Given the description of an element on the screen output the (x, y) to click on. 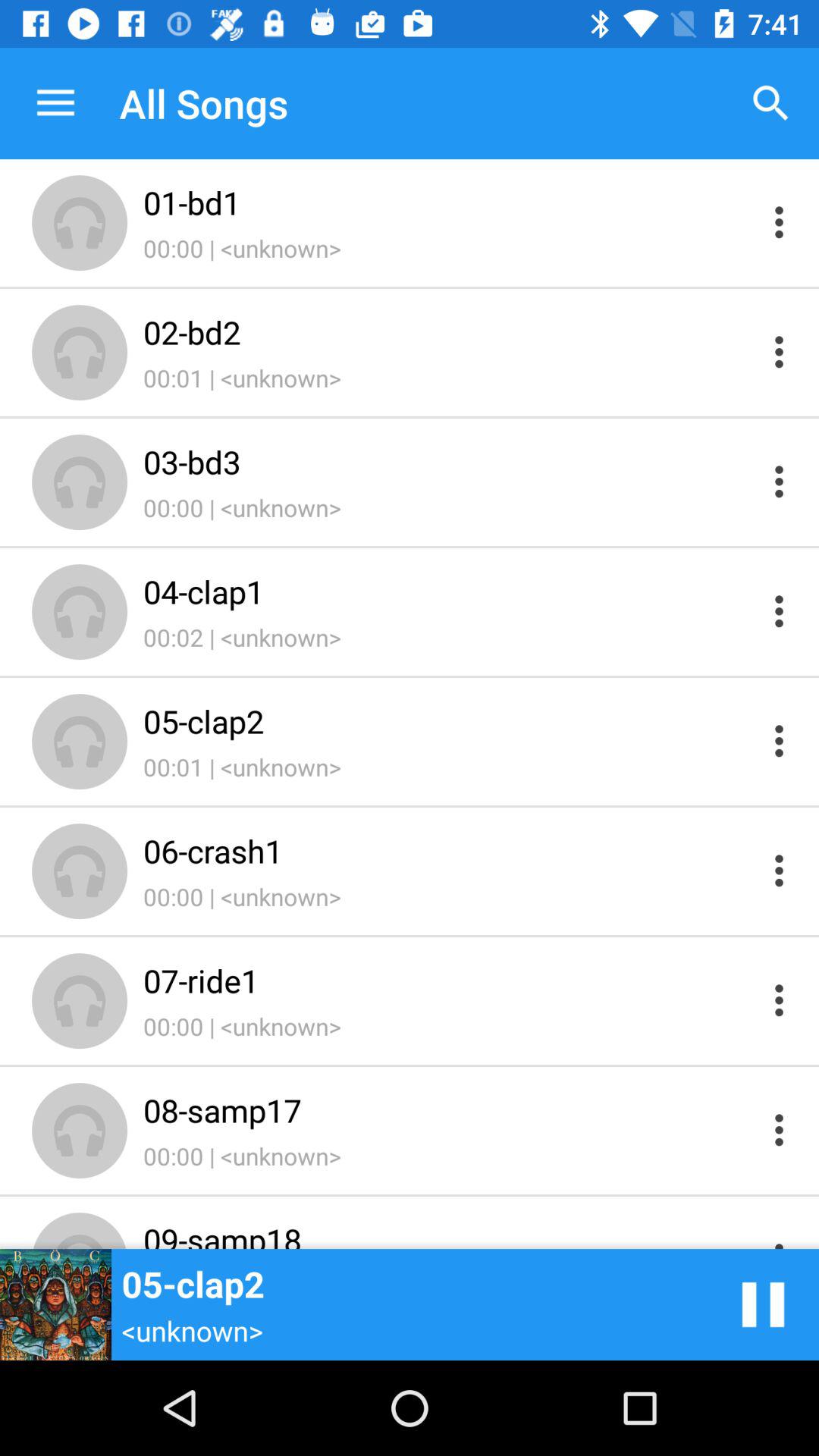
choose the icon above 00:01 | <unknown> icon (449, 331)
